Given the description of an element on the screen output the (x, y) to click on. 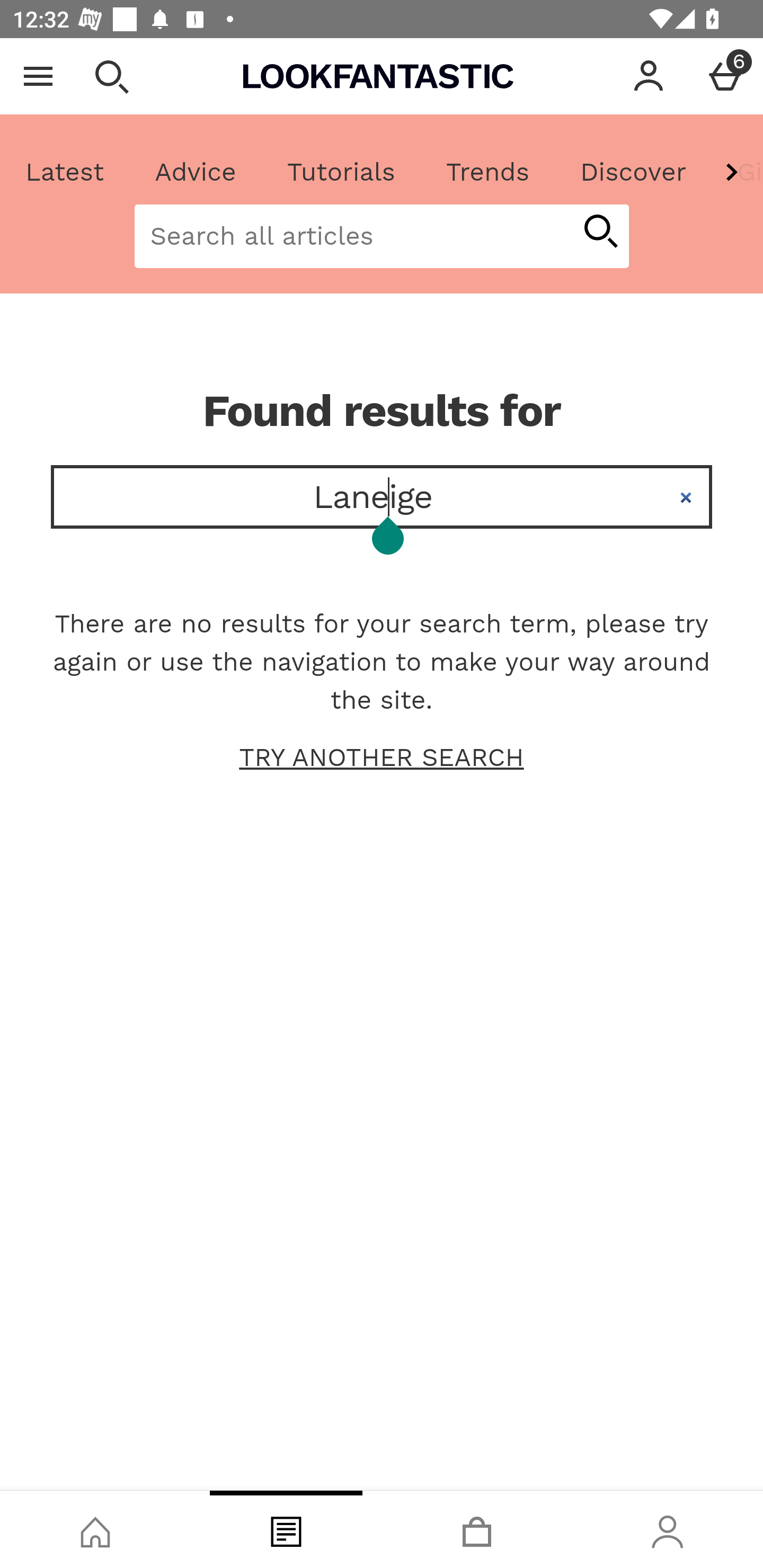
Open Menu (38, 75)
Open search (111, 75)
Account (648, 75)
Basket Menu (724, 75)
Lookfantastic USA Home page (378, 76)
Latest (65, 172)
Advice (195, 172)
Tutorials (340, 172)
Trends (486, 172)
Discover (632, 172)
Gift Guide (736, 172)
start article search (599, 232)
Laneige (381, 496)
TRY ANOTHER SEARCH (381, 757)
Shop, tab, 1 of 4 (95, 1529)
Blog, tab, 2 of 4 (285, 1529)
Basket, tab, 3 of 4 (476, 1529)
Account, tab, 4 of 4 (667, 1529)
